Given the description of an element on the screen output the (x, y) to click on. 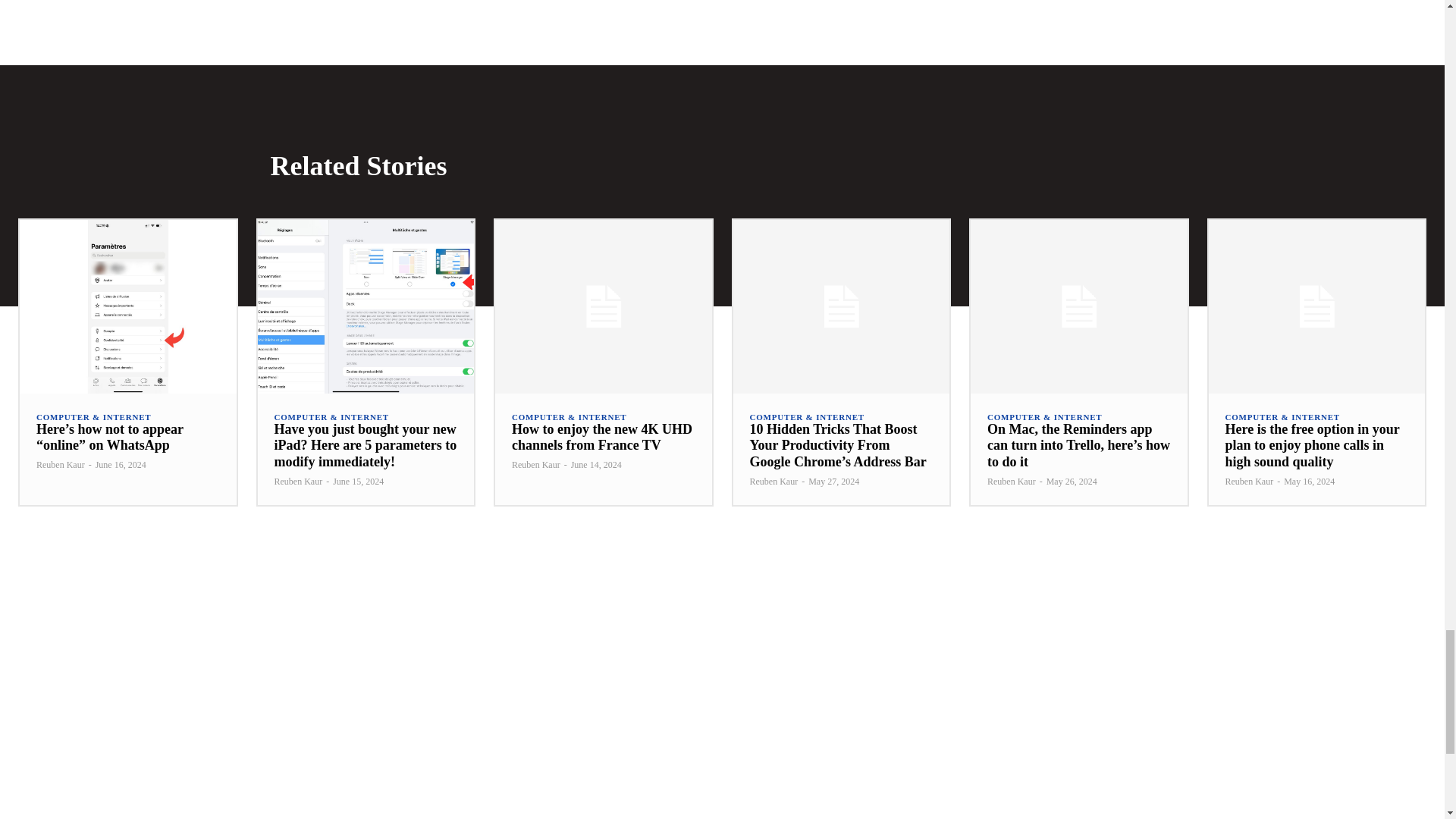
How to enjoy the new 4K UHD channels from France TV (603, 306)
How to enjoy the new 4K UHD channels from France TV (602, 437)
